Given the description of an element on the screen output the (x, y) to click on. 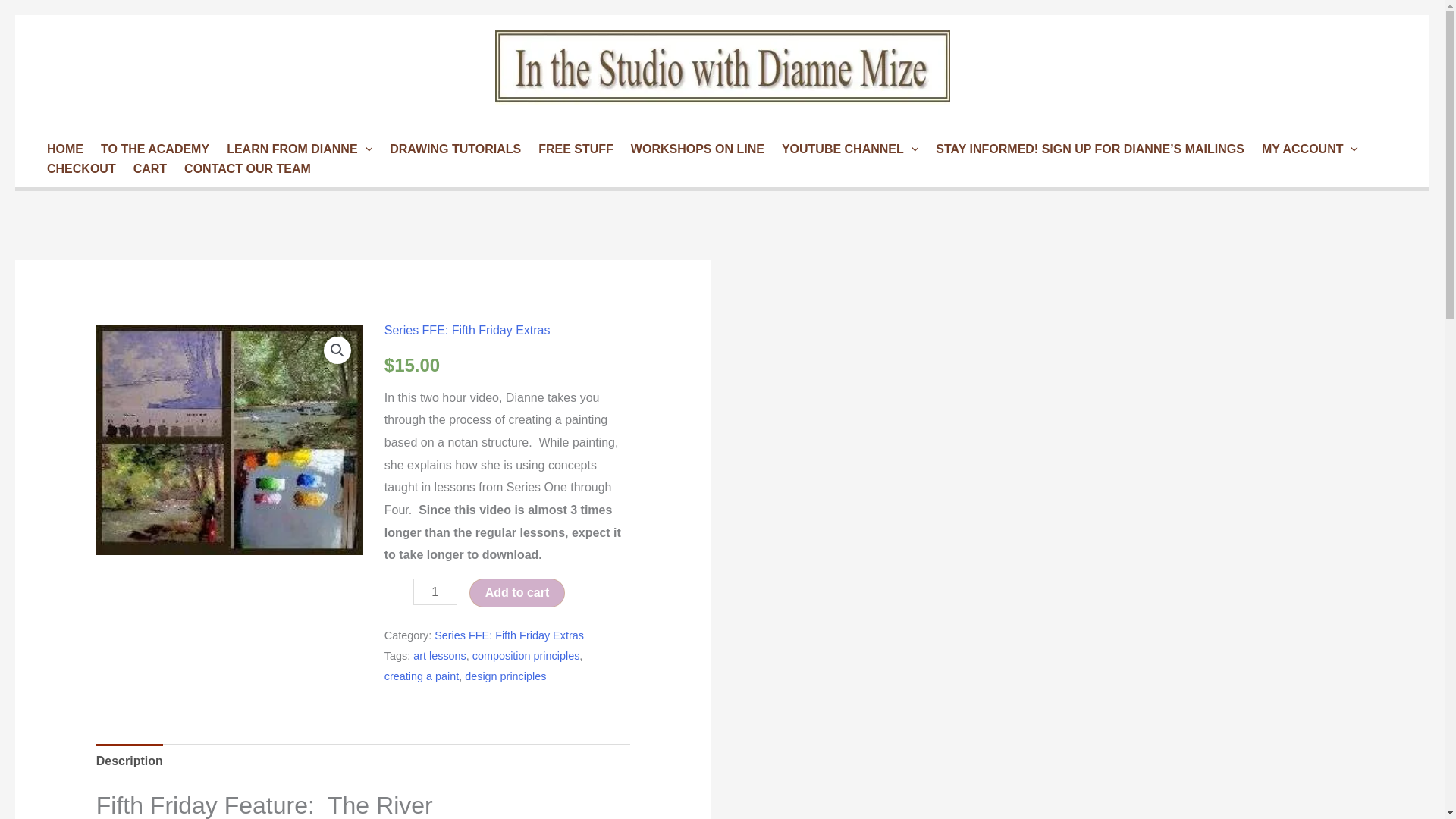
HOME (61, 148)
YOUTUBE CHANNEL (847, 148)
WORKSHOPS ON LINE (695, 148)
FREE STUFF (573, 148)
DRAWING TUTORIALS (452, 148)
CHECKOUT (78, 168)
TO THE ACADEMY (151, 148)
1 (435, 591)
LEARN FROM DIANNE (296, 148)
CART (147, 168)
